Given the description of an element on the screen output the (x, y) to click on. 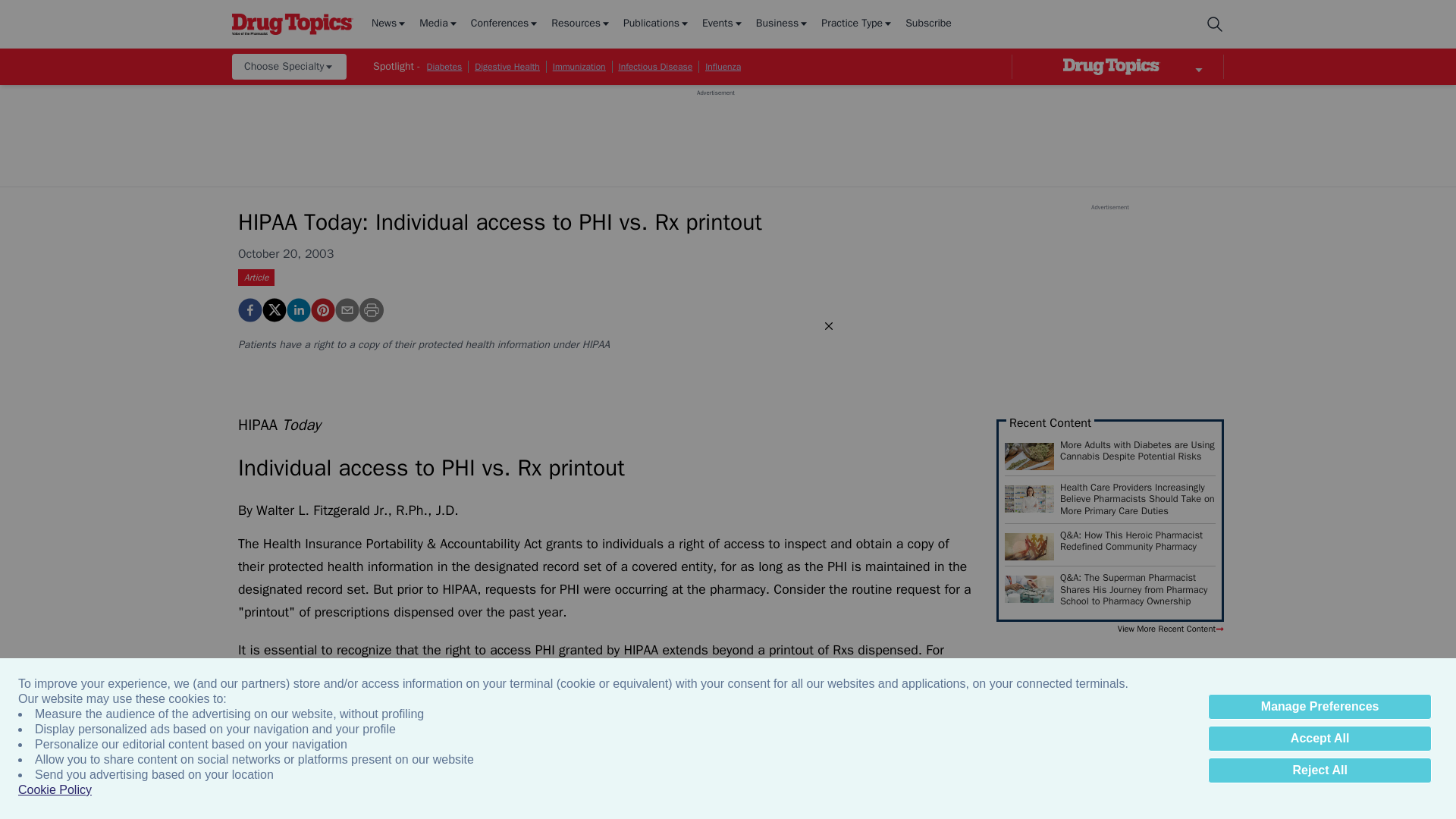
Publications (656, 23)
Manage Preferences (1319, 706)
Events (722, 23)
Accept All (1319, 738)
Conferences (505, 23)
News (389, 23)
Media (438, 23)
HIPAA Today: Individual access to PHI vs. Rx printout (250, 310)
Reject All (1319, 769)
HIPAA Today: Individual access to PHI vs. Rx printout (322, 310)
3rd party ad content (715, 131)
Resources (581, 23)
Cookie Policy (54, 789)
